Given the description of an element on the screen output the (x, y) to click on. 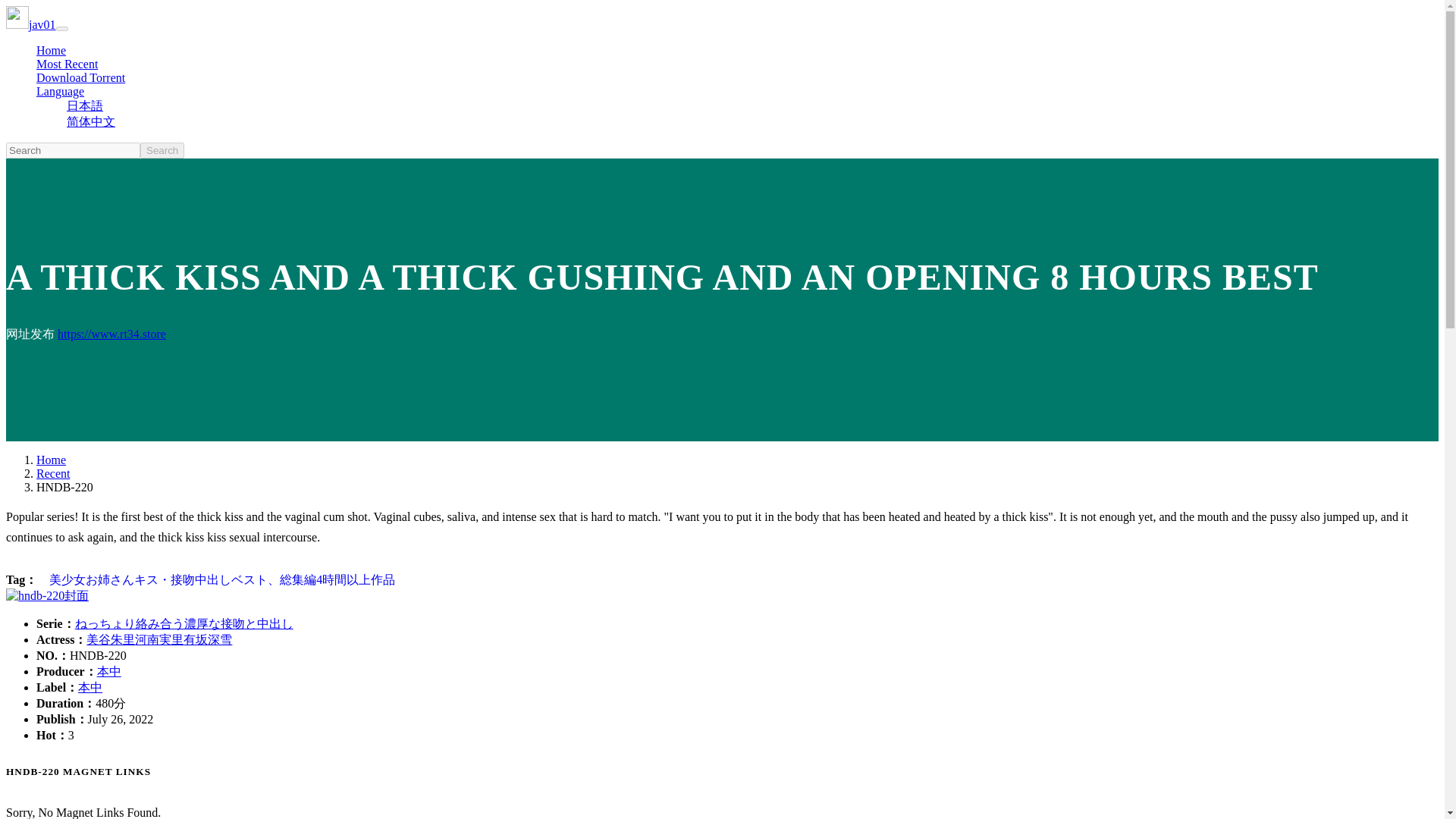
Home (50, 459)
Home (50, 50)
Recent (52, 472)
Download Torrent (80, 77)
Most Recent (66, 63)
Language (60, 91)
jav01 (30, 24)
Search (161, 150)
